Given the description of an element on the screen output the (x, y) to click on. 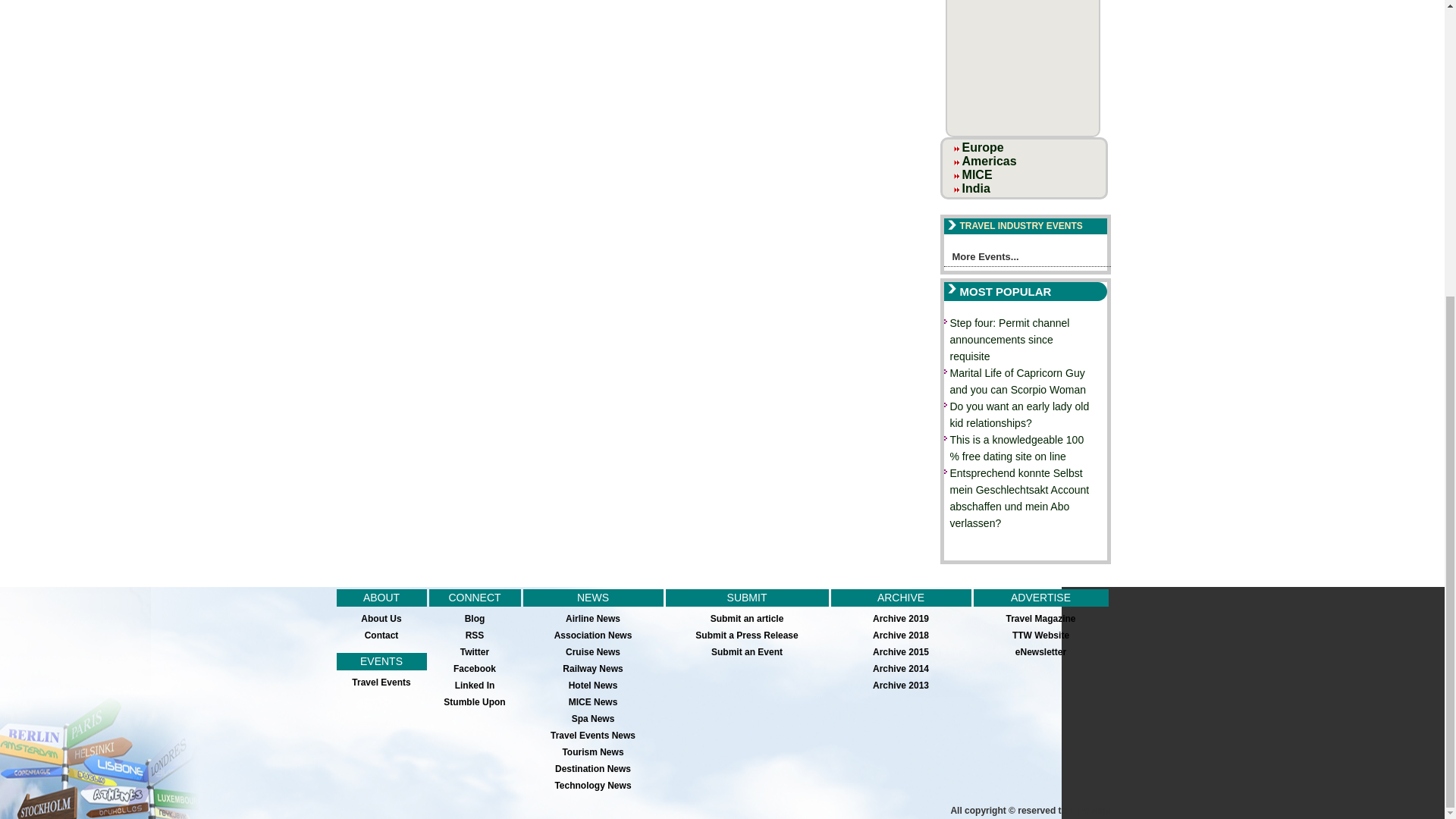
Americas (989, 160)
Facebook (474, 668)
Linked In (474, 685)
Twitter (474, 652)
About Us (381, 618)
RSS (474, 634)
Marital Life of Capricorn Guy and you can Scorpio Woman (1017, 380)
Europe (983, 146)
Airline News (593, 618)
More Events... (1026, 258)
